Given the description of an element on the screen output the (x, y) to click on. 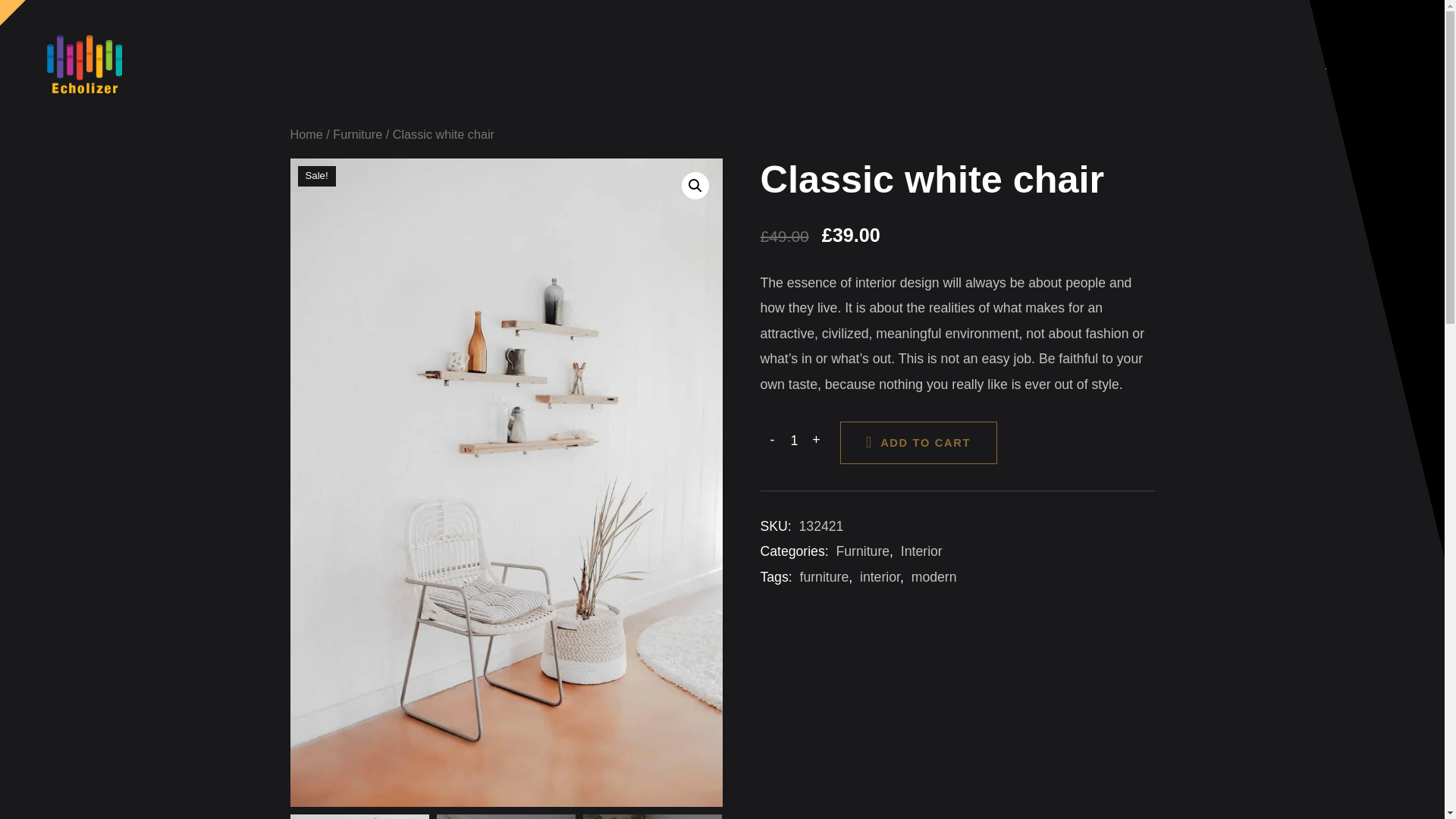
Furniture (862, 550)
Furniture (357, 133)
furniture (823, 576)
Echolizer (85, 63)
Interior (921, 550)
interior (879, 576)
1 (794, 440)
ADD TO CART (918, 442)
Home (305, 133)
modern (933, 576)
